Given the description of an element on the screen output the (x, y) to click on. 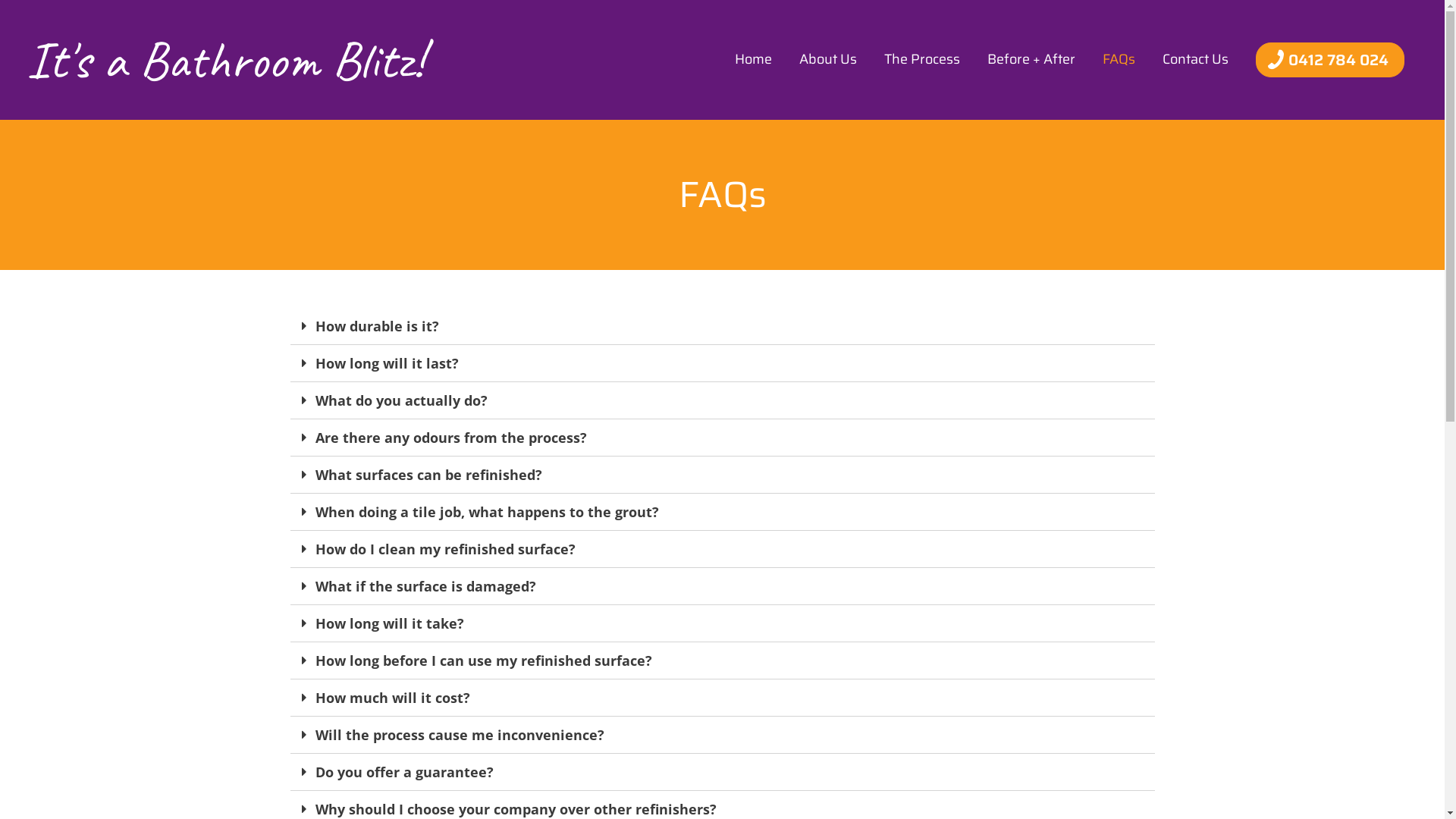
Before + After Element type: text (1030, 59)
About Us Element type: text (827, 59)
It's a Bathroom Blitz! Element type: text (224, 59)
The Process Element type: text (921, 59)
0412 784 024 Element type: text (1329, 59)
Home Element type: text (753, 59)
FAQs Element type: text (1118, 59)
Contact Us Element type: text (1195, 59)
